Given the description of an element on the screen output the (x, y) to click on. 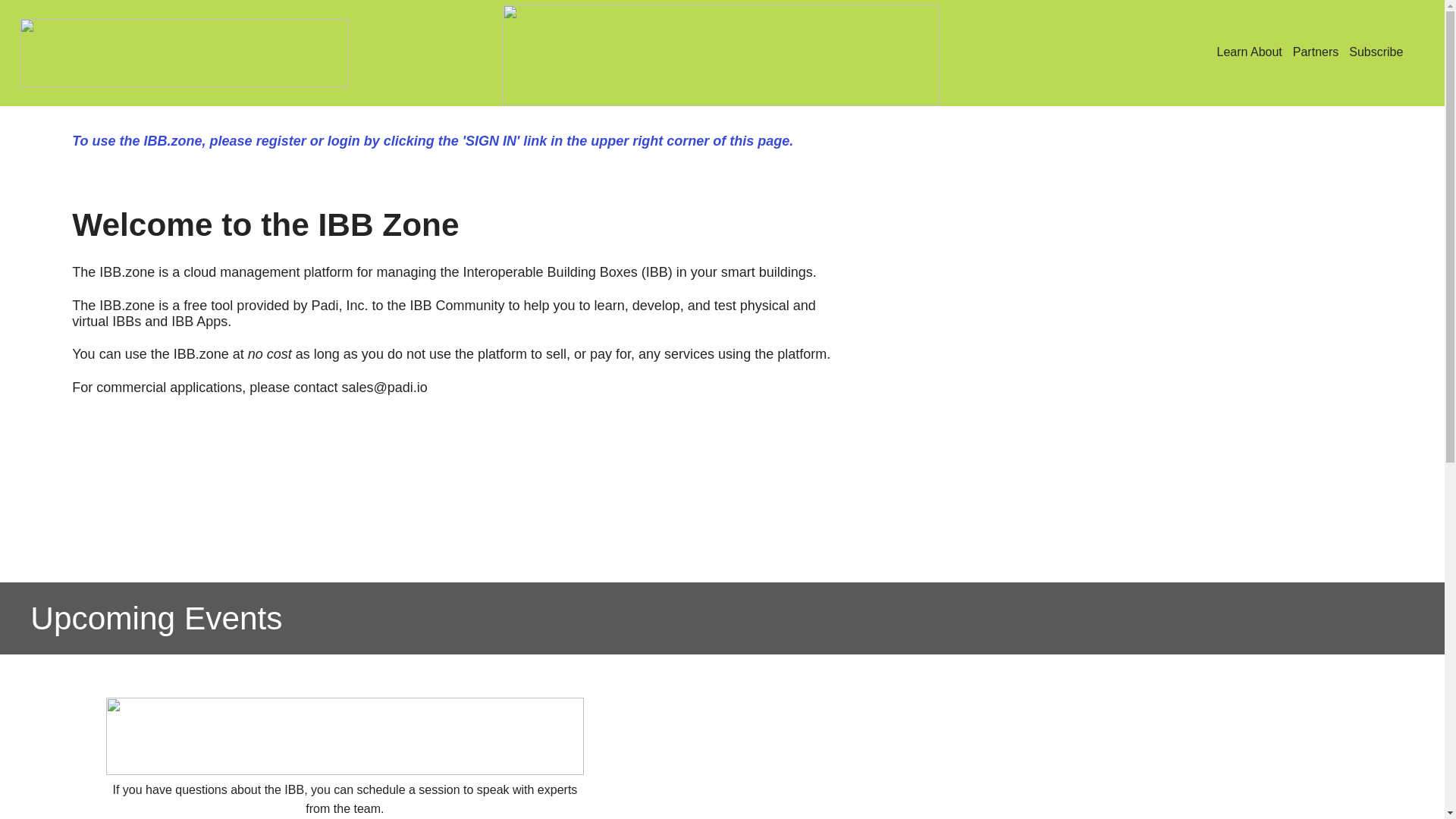
Subscribe (1279, 52)
Learn About (1375, 52)
Partners (1248, 52)
